Given the description of an element on the screen output the (x, y) to click on. 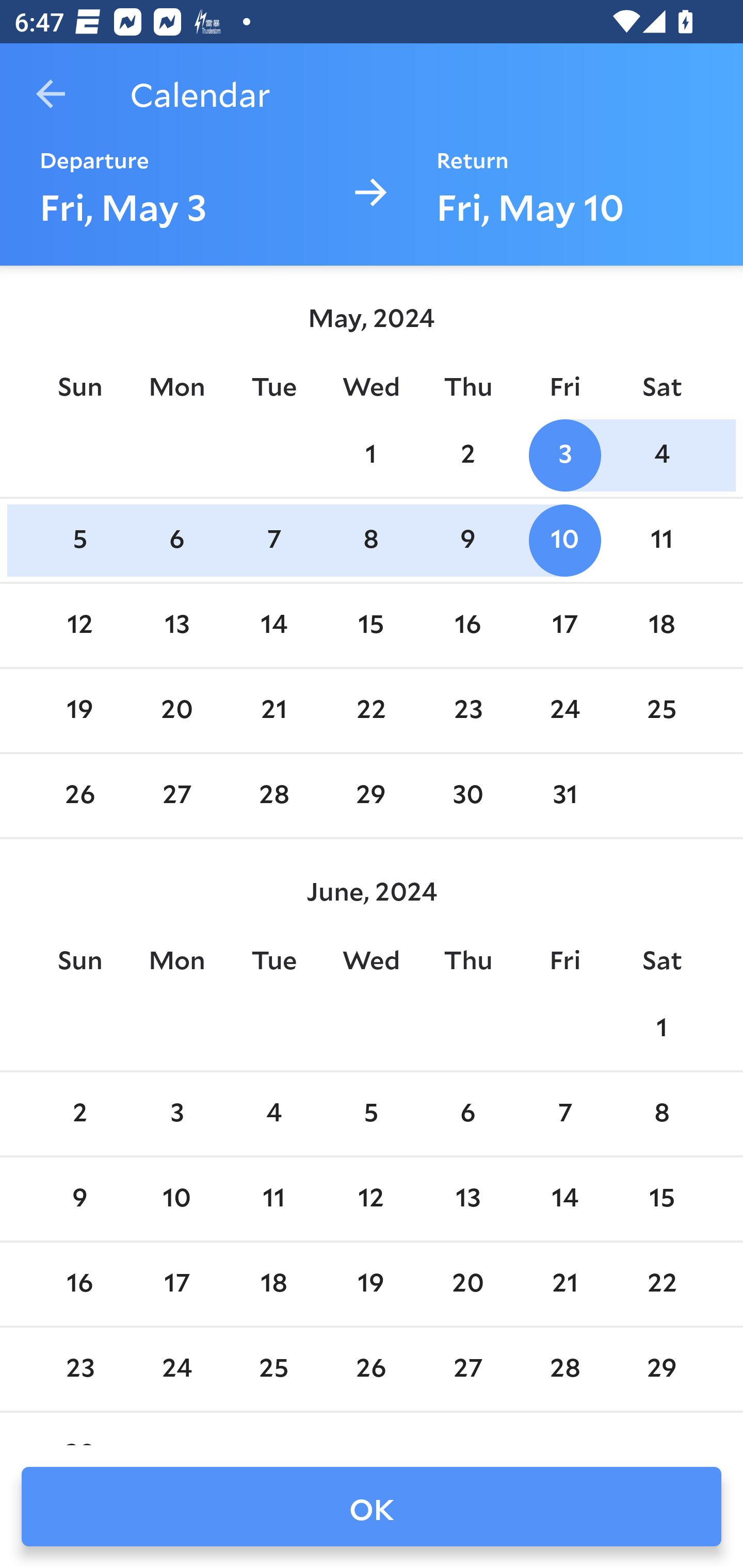
Navigate up (50, 93)
1 (371, 454)
2 (467, 454)
3 (565, 454)
4 (661, 454)
5 (79, 540)
6 (177, 540)
7 (273, 540)
8 (371, 540)
9 (467, 540)
10 (565, 540)
11 (661, 540)
12 (79, 625)
13 (177, 625)
14 (273, 625)
15 (371, 625)
16 (467, 625)
17 (565, 625)
18 (661, 625)
19 (79, 710)
20 (177, 710)
21 (273, 710)
22 (371, 710)
23 (467, 710)
24 (565, 710)
25 (661, 710)
26 (79, 796)
27 (177, 796)
28 (273, 796)
29 (371, 796)
30 (467, 796)
31 (565, 796)
1 (661, 1028)
2 (79, 1114)
3 (177, 1114)
4 (273, 1114)
5 (371, 1114)
6 (467, 1114)
7 (565, 1114)
8 (661, 1114)
9 (79, 1199)
10 (177, 1199)
11 (273, 1199)
12 (371, 1199)
13 (467, 1199)
14 (565, 1199)
15 (661, 1199)
16 (79, 1284)
17 (177, 1284)
18 (273, 1284)
